Given the description of an element on the screen output the (x, y) to click on. 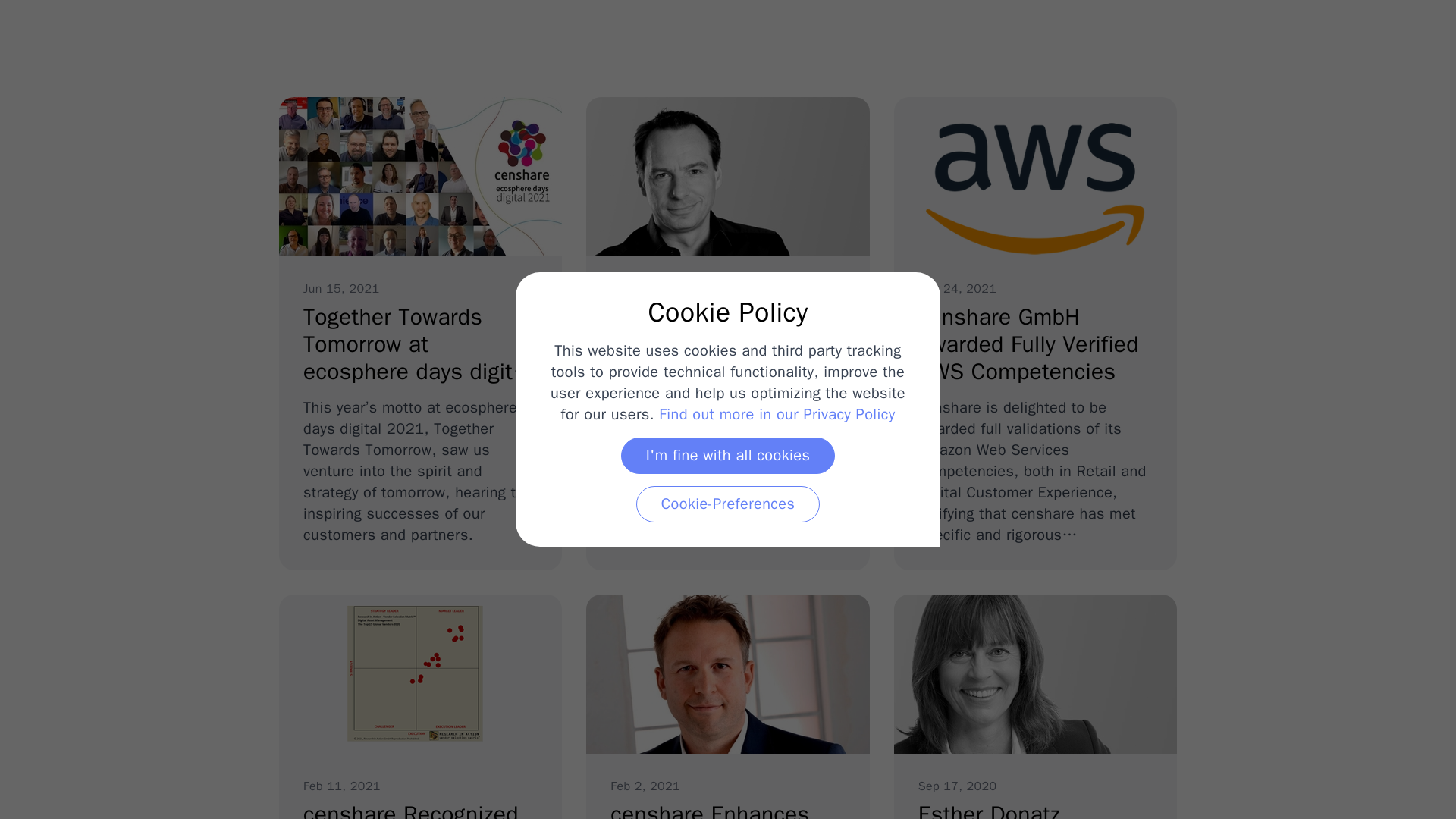
I'm fine with all cookies (728, 455)
Find out more in our Privacy Policy (777, 414)
Cookie-Preferences (1034, 706)
